Given the description of an element on the screen output the (x, y) to click on. 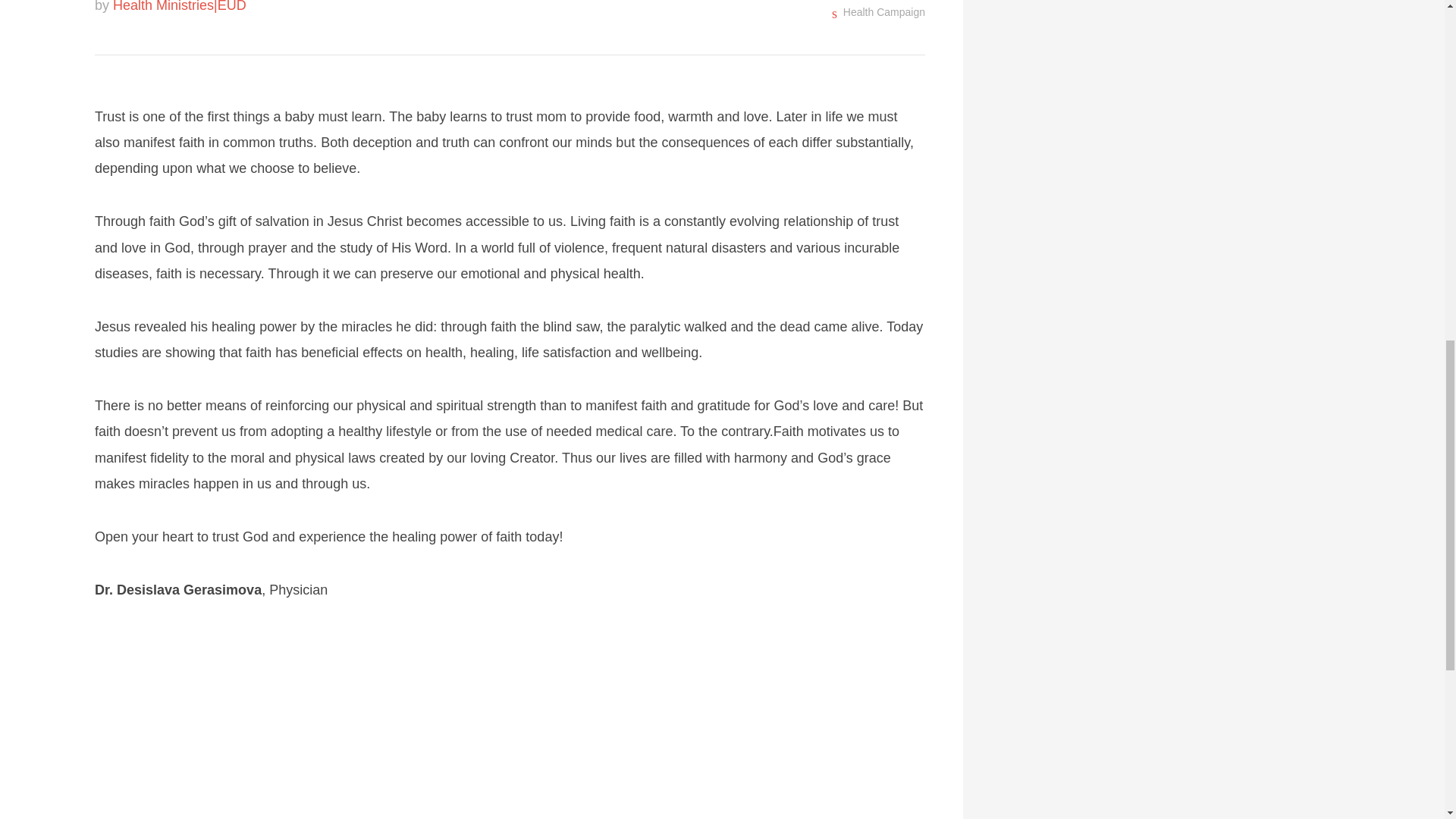
JoomlaWorks AllVideos Player (510, 724)
Health Campaign (883, 11)
